Given the description of an element on the screen output the (x, y) to click on. 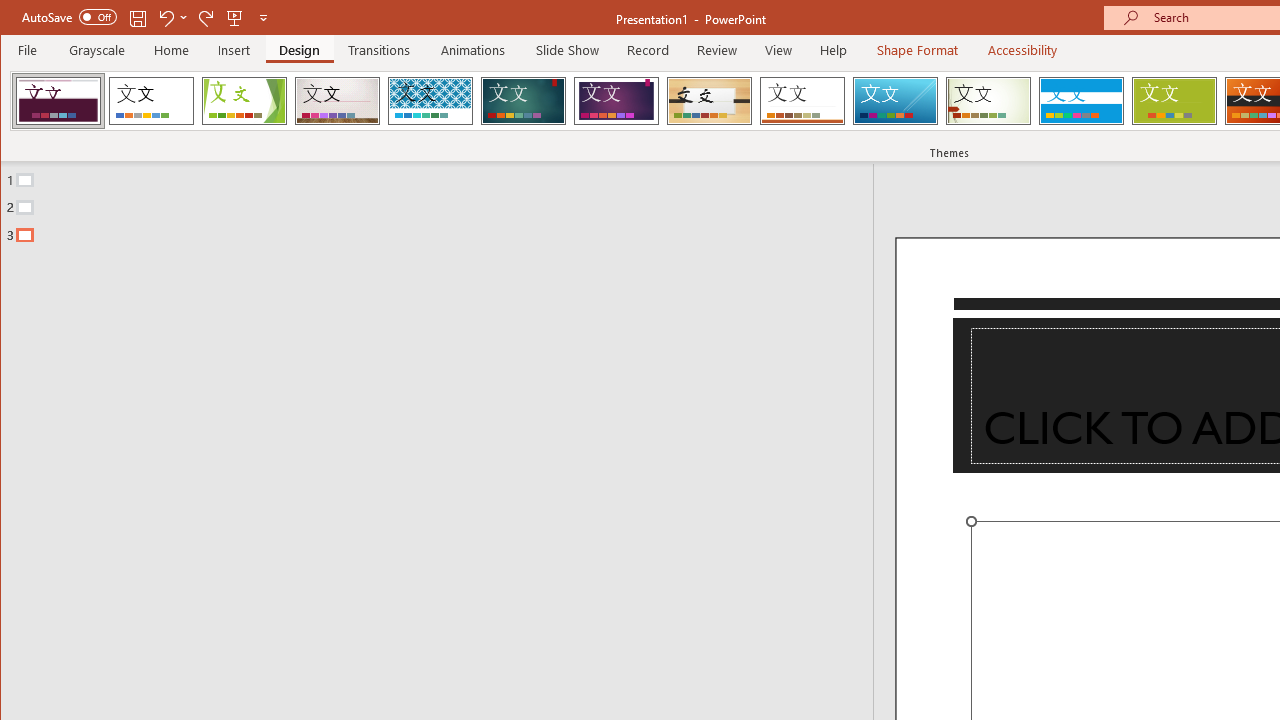
Retrospect (802, 100)
Slice (895, 100)
Ion Boardroom (616, 100)
Wisp (988, 100)
